Given the description of an element on the screen output the (x, y) to click on. 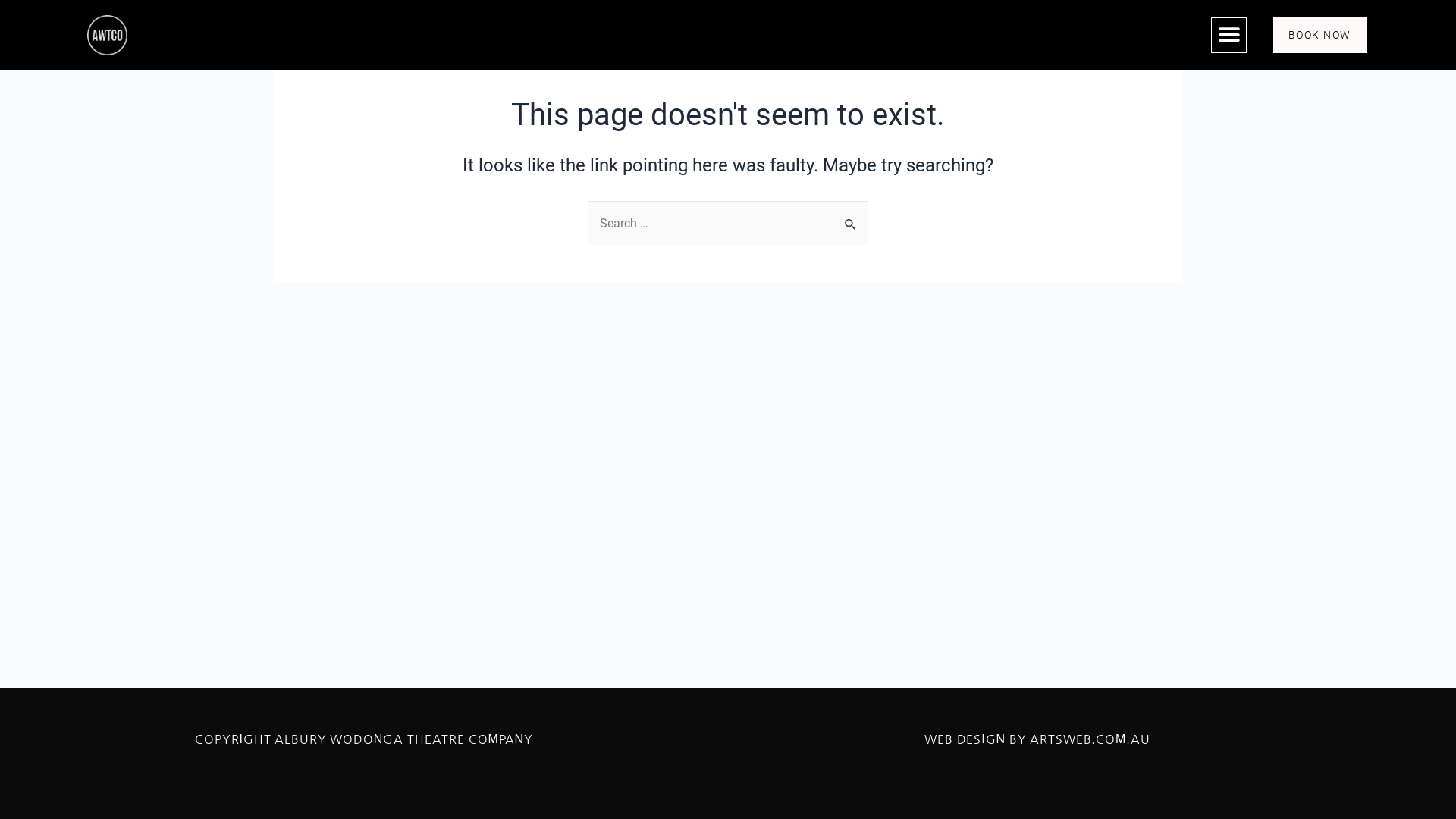
BOOK NOW Element type: text (1319, 34)
Search Element type: text (851, 216)
WEB DESIGN BY ARTSWEB.COM.AU Element type: text (1037, 738)
